Given the description of an element on the screen output the (x, y) to click on. 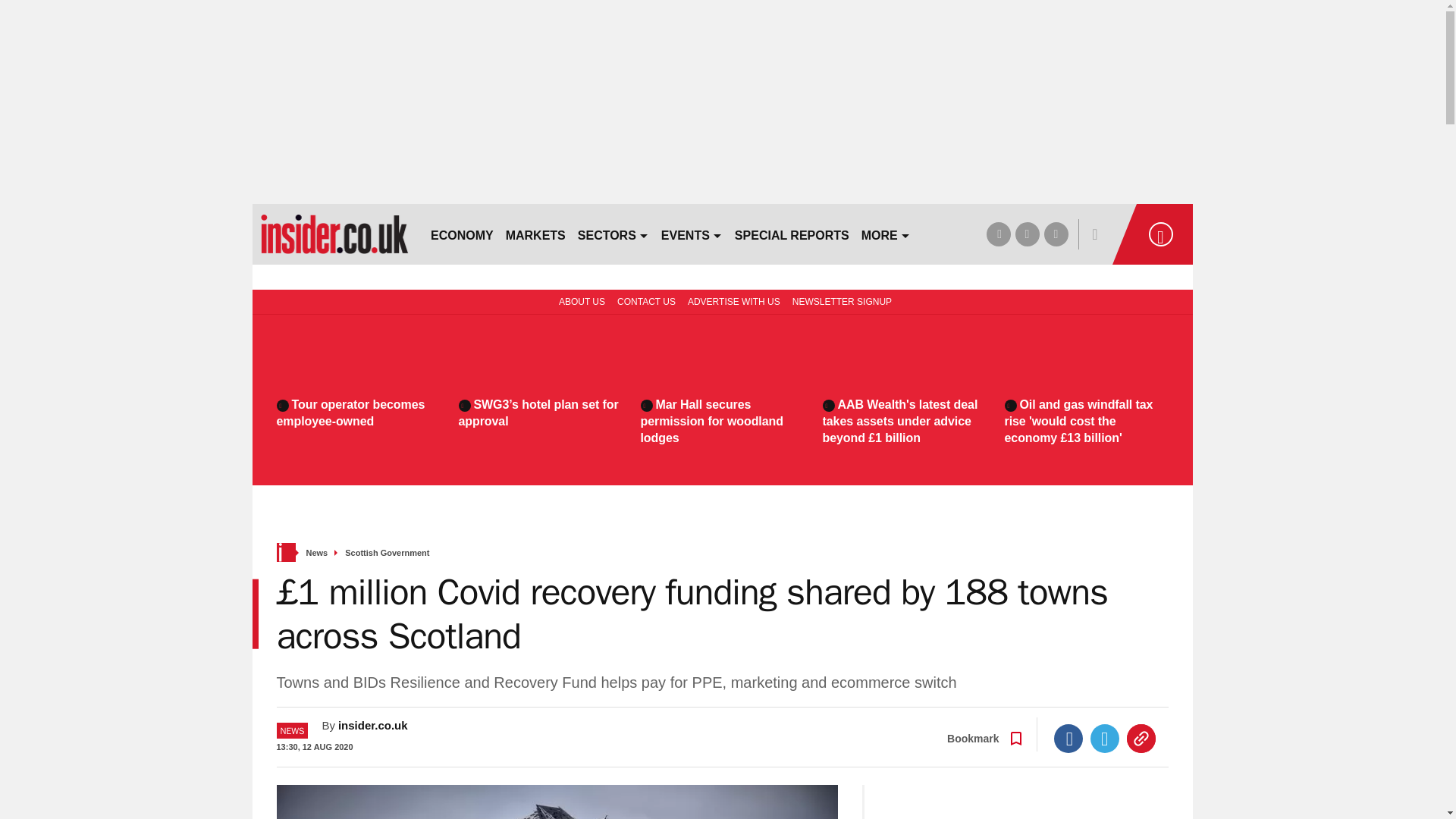
MARKETS (535, 233)
ECONOMY (462, 233)
businessInsider (333, 233)
Tour operator becomes employee-owned (357, 412)
ADVERTISE WITH US (733, 300)
Twitter (1104, 737)
CONTACT US (646, 300)
Facebook (1068, 737)
Mar Hall secures permission for woodland lodges (721, 421)
EVENTS (692, 233)
